Given the description of an element on the screen output the (x, y) to click on. 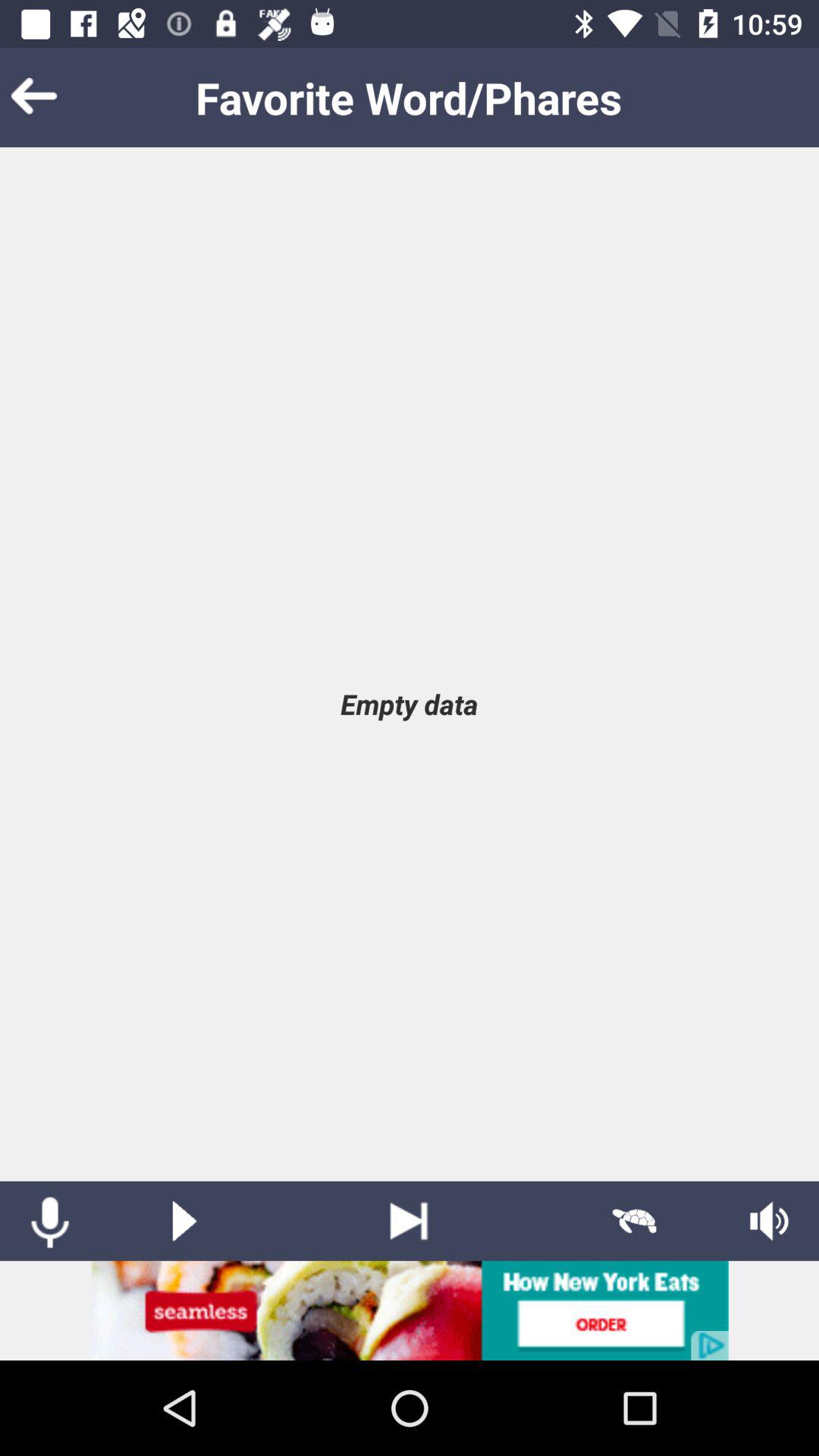
play audio (184, 1220)
